Given the description of an element on the screen output the (x, y) to click on. 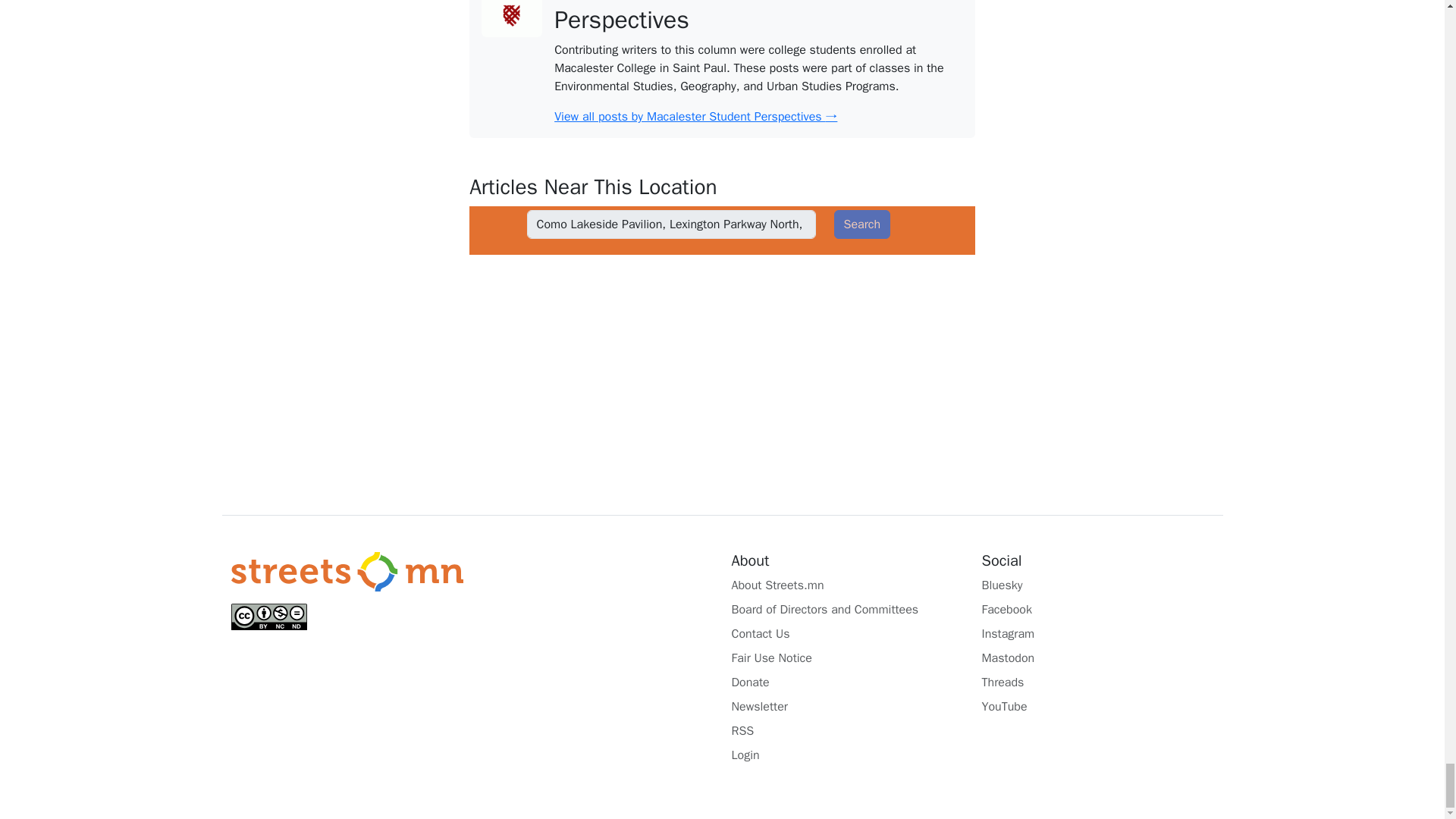
Streets.mn (346, 572)
